Given the description of an element on the screen output the (x, y) to click on. 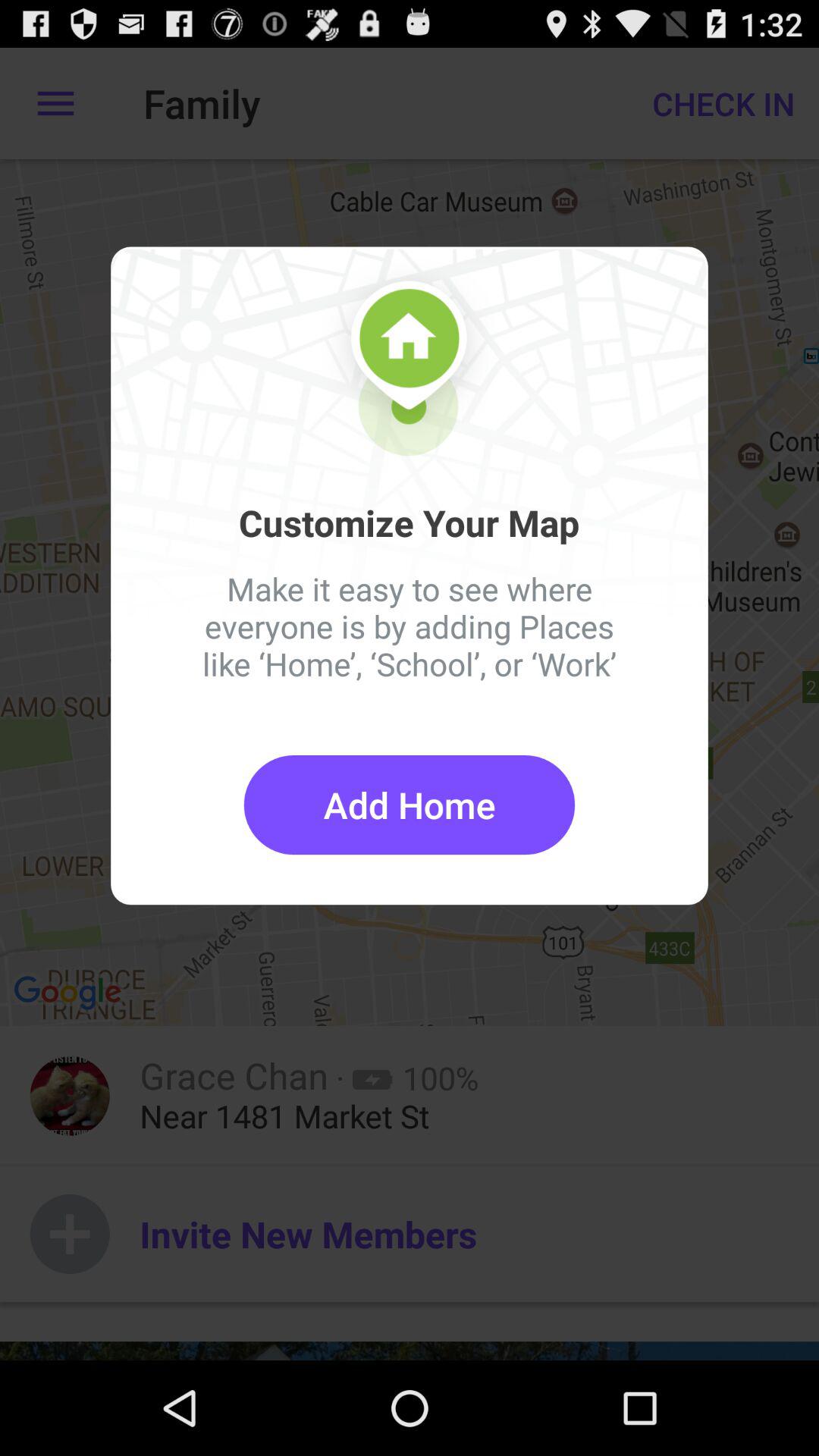
choose the item below make it easy icon (409, 804)
